Given the description of an element on the screen output the (x, y) to click on. 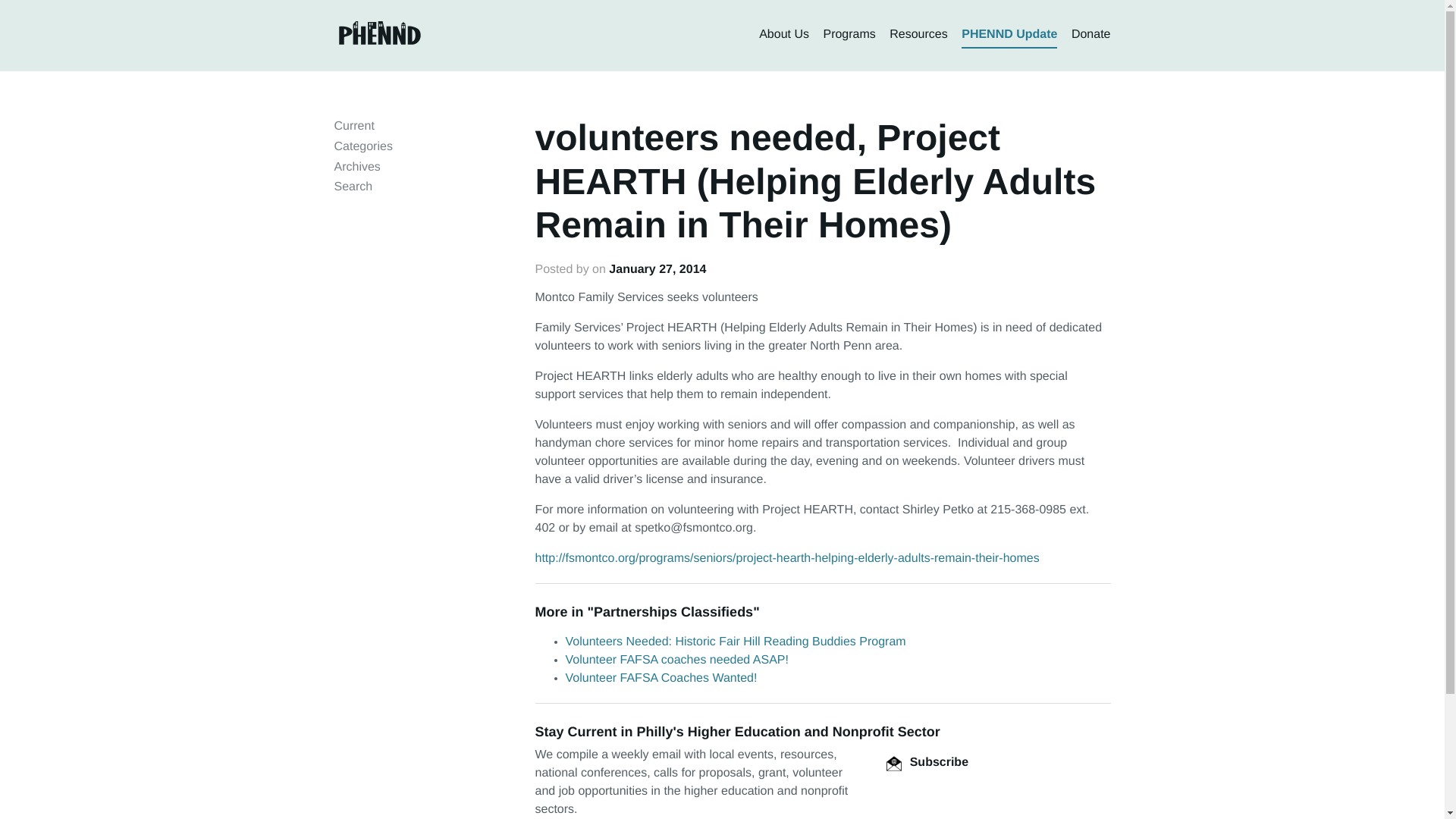
Categories (362, 146)
Archives (356, 166)
Partnerships Classifieds (673, 611)
About Us (783, 34)
Programs (848, 34)
Search (352, 186)
Current (353, 125)
PHENND Update (1008, 35)
Resources (918, 34)
Volunteer FAFSA coaches needed ASAP! (677, 659)
